Given the description of an element on the screen output the (x, y) to click on. 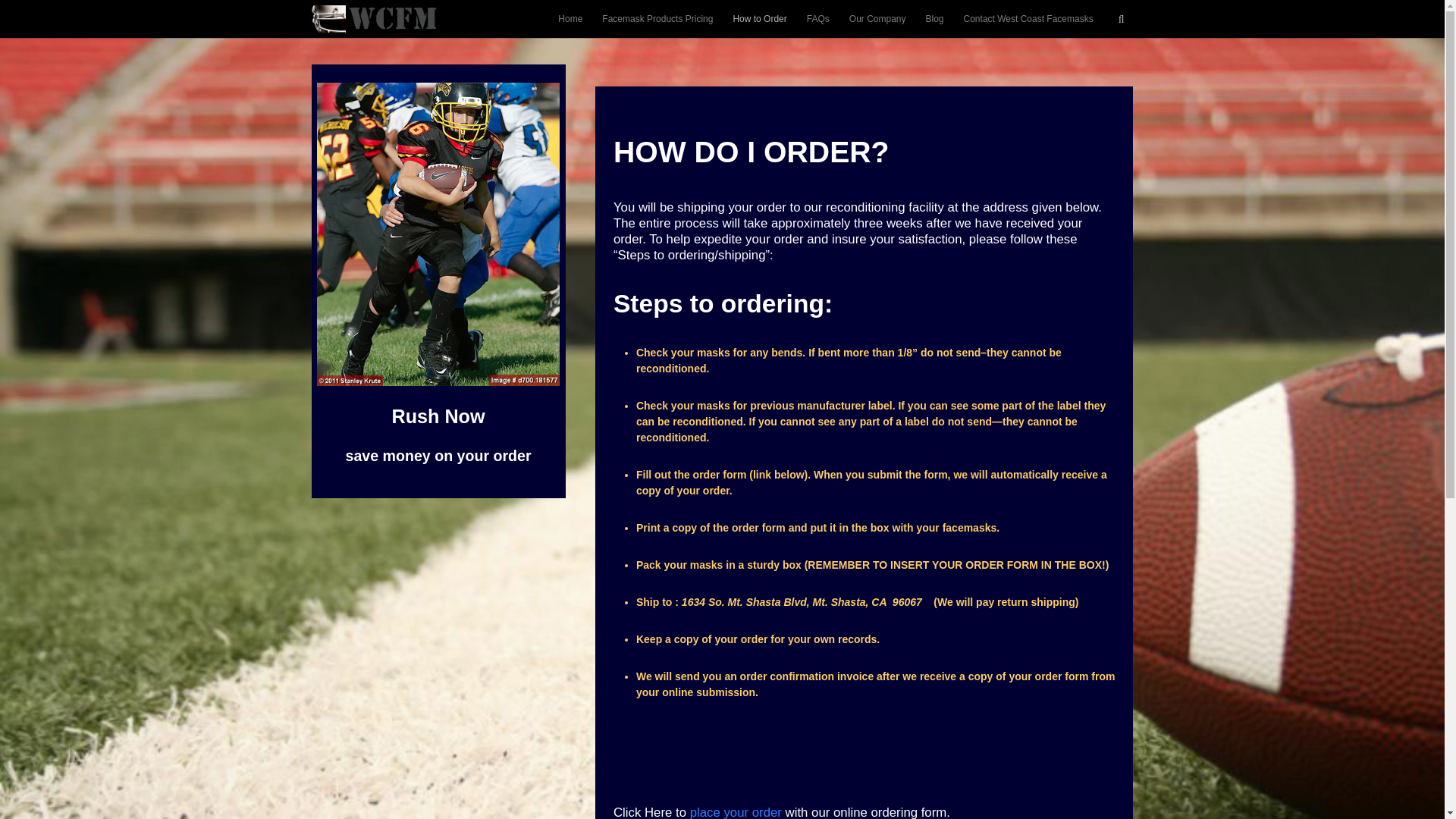
Our Company (877, 18)
Facemasks Reconditioning online order form (735, 812)
Blog (934, 18)
How to Order (759, 18)
West Coast Facemasks (378, 18)
Home (570, 18)
Facemask Products Pricing (657, 18)
FAQs (818, 18)
Contact West Coast Facemasks (1028, 18)
place your order (735, 812)
